Given the description of an element on the screen output the (x, y) to click on. 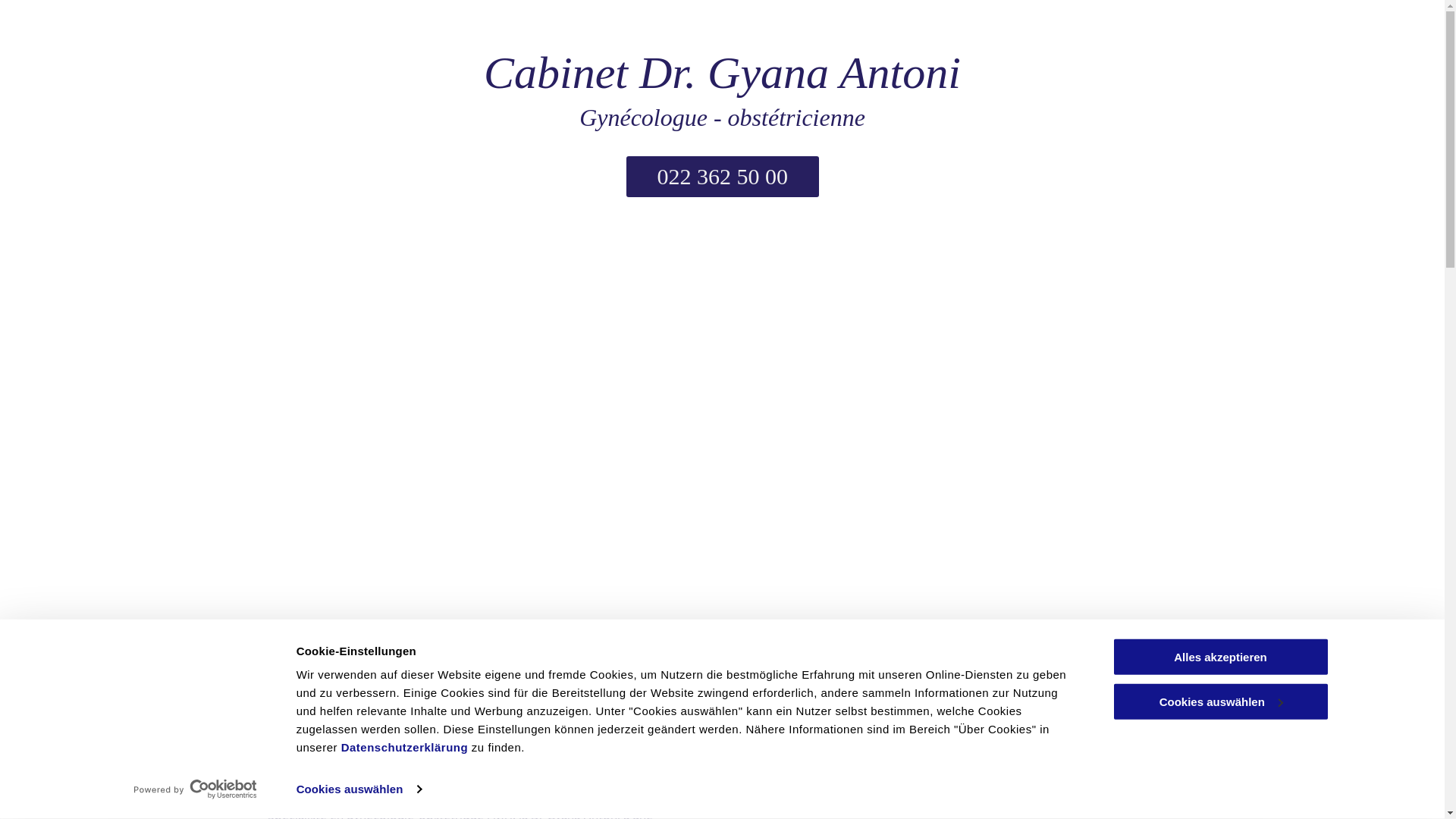
Cabinet Dr. Gyana Antoni Element type: text (721, 72)
Alles akzeptieren Element type: text (1219, 656)
022 362 50 00 Element type: text (722, 176)
